Given the description of an element on the screen output the (x, y) to click on. 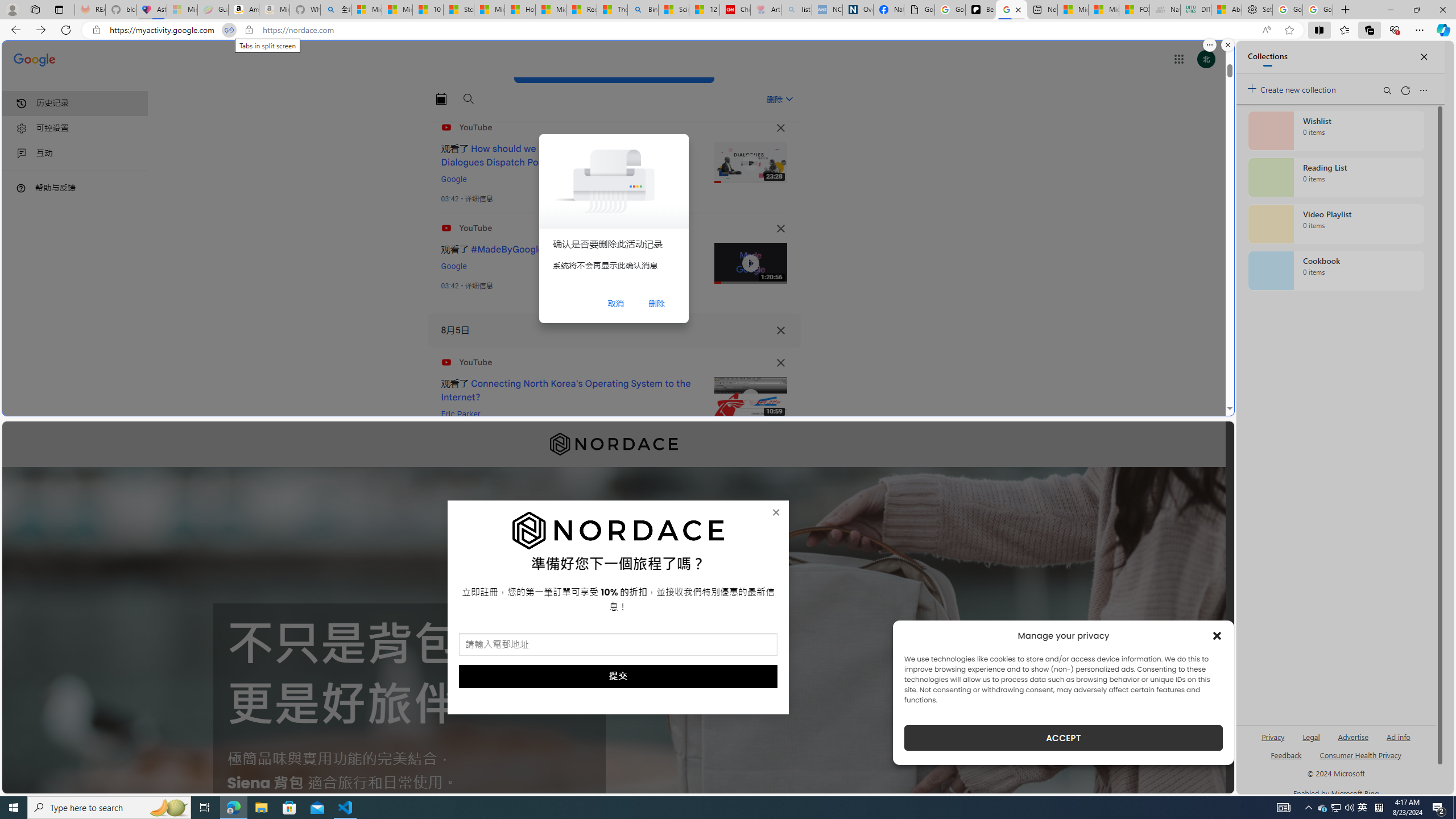
Close split screen. (1227, 45)
Connecting North Korea's Operating System to the Internet? (566, 390)
